Given the description of an element on the screen output the (x, y) to click on. 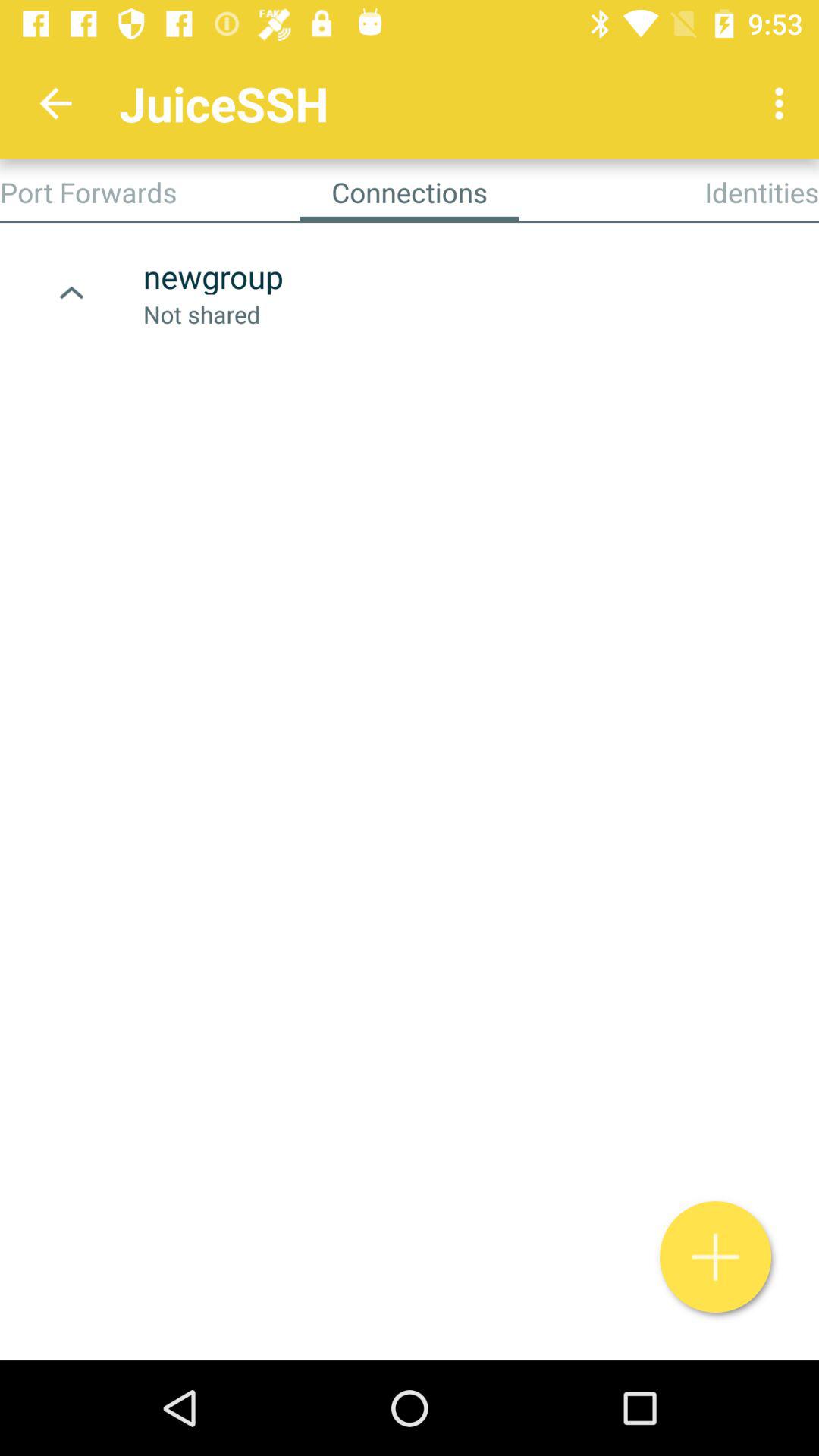
select the icon above port forwards app (55, 103)
